Given the description of an element on the screen output the (x, y) to click on. 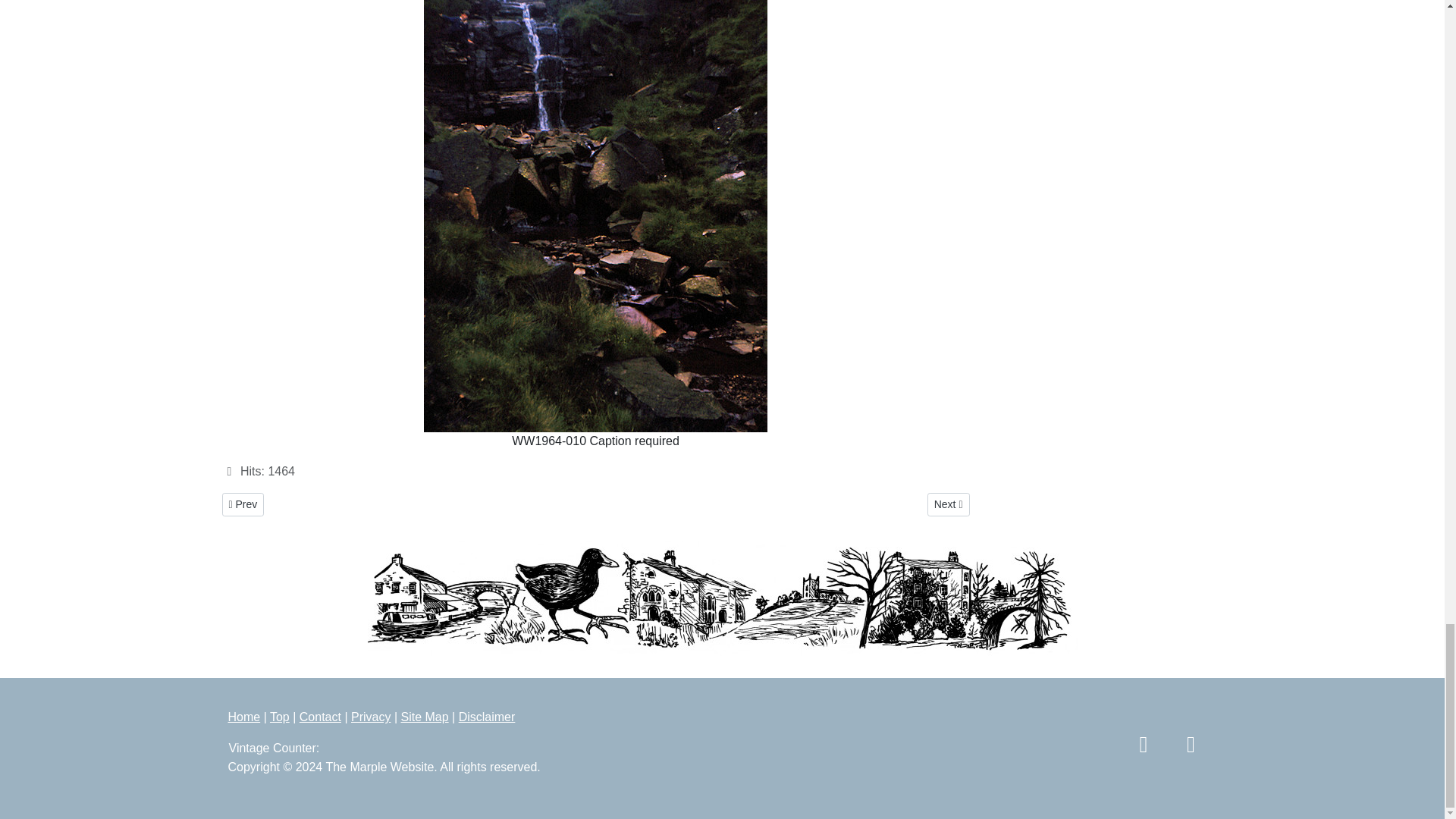
WW1964-010 Caption required (242, 504)
